Given the description of an element on the screen output the (x, y) to click on. 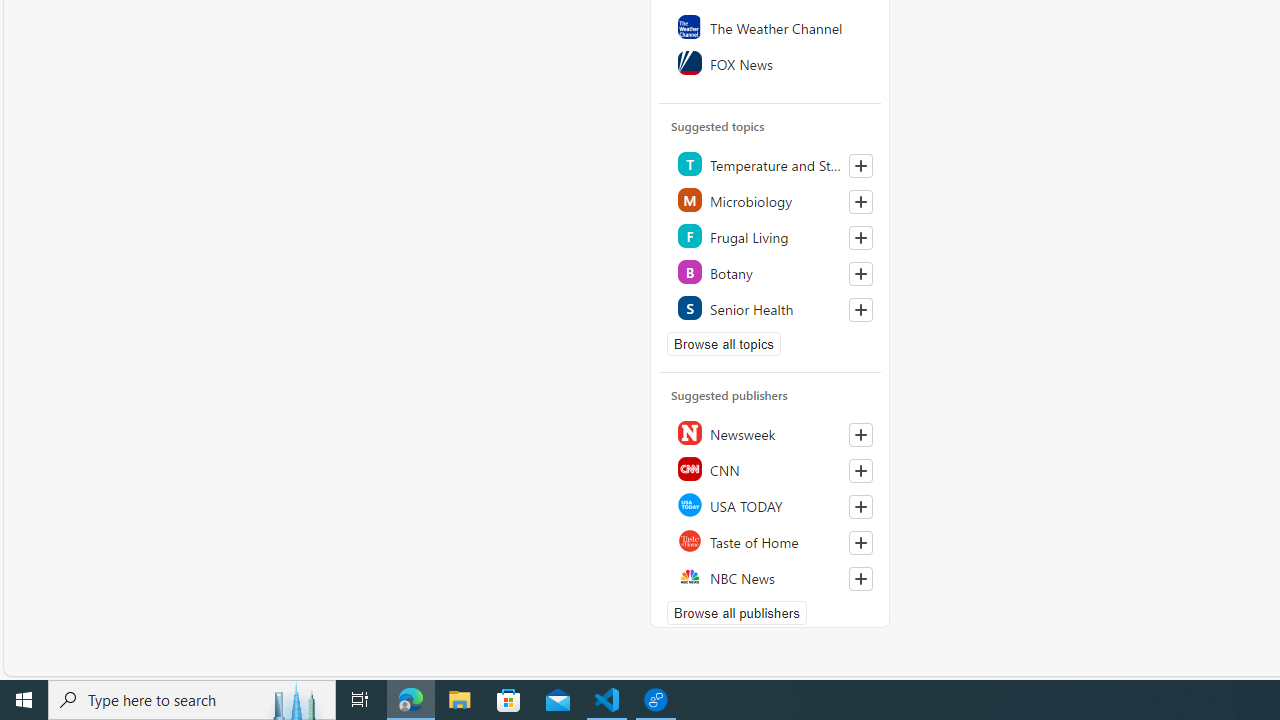
The Weather Channel (771, 26)
Class: highlight (771, 308)
Follow this topic (860, 309)
Newsweek (771, 432)
USA TODAY (771, 504)
Follow this source (860, 578)
Taste of Home (771, 540)
FOX News (771, 62)
CNN (771, 468)
Browse all topics (724, 343)
Follow this source (860, 579)
NBC News (771, 576)
Browse all publishers (736, 612)
Follow this topic (860, 309)
